Given the description of an element on the screen output the (x, y) to click on. 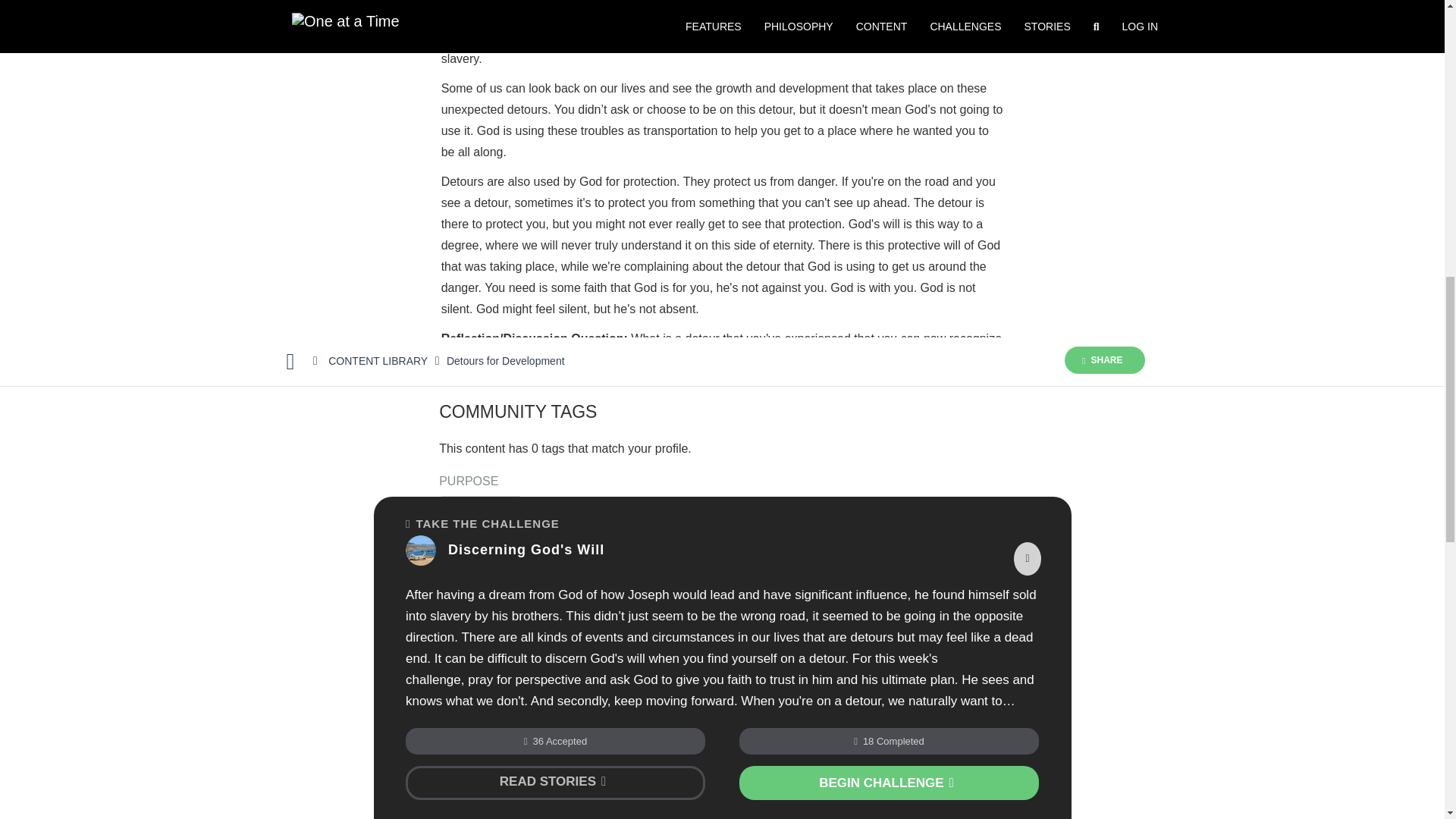
login (581, 600)
Growing in Faith (479, 502)
sign up (630, 600)
